Given the description of an element on the screen output the (x, y) to click on. 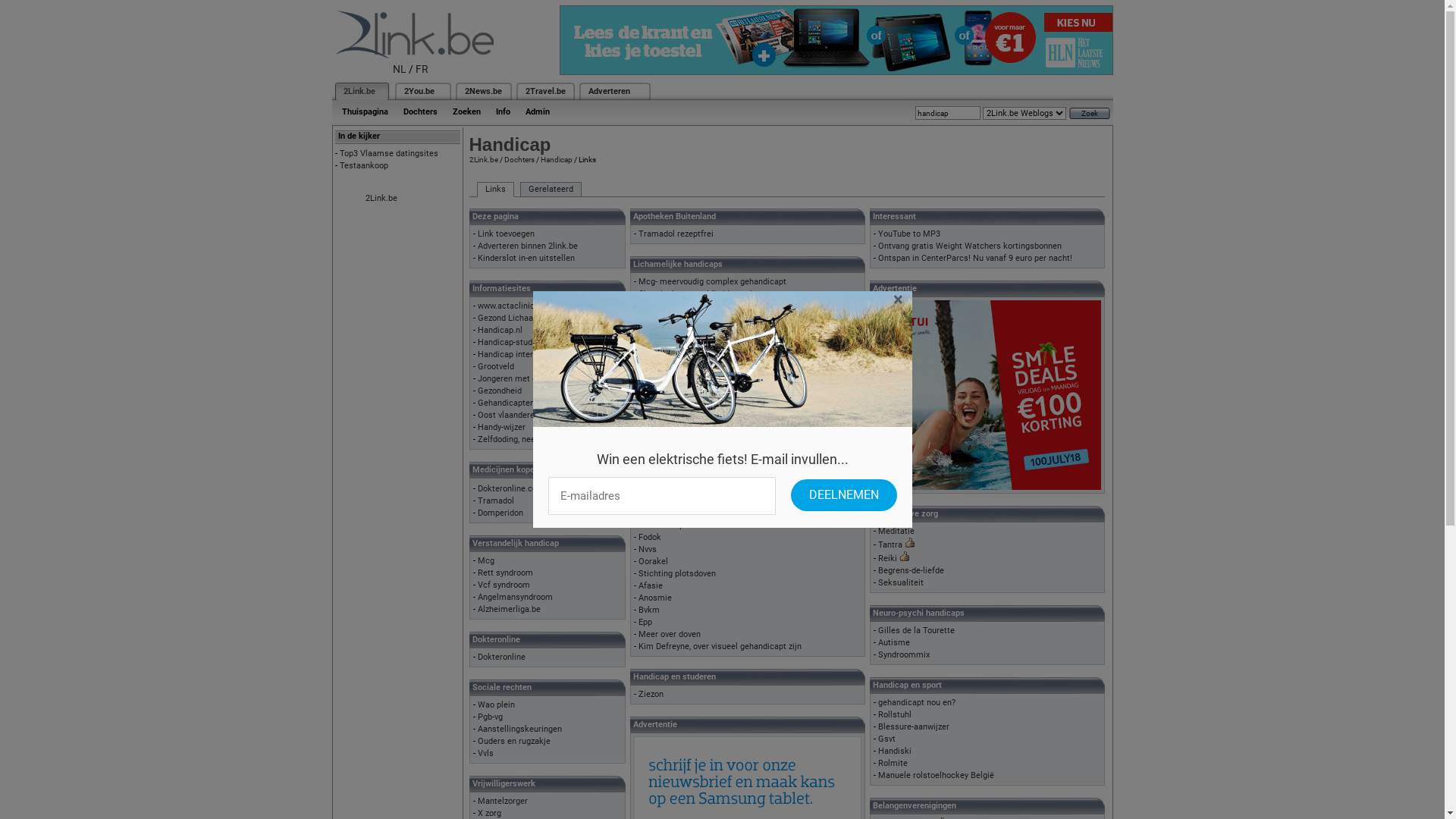
Angelmansyndroom Element type: text (514, 597)
Reiki Element type: text (887, 558)
Handicap-studie.nl Element type: text (512, 342)
Handicap Element type: text (555, 159)
Nvvs Element type: text (647, 549)
Links Element type: text (494, 189)
Tramadol rezeptfrei Element type: text (675, 233)
Stickler syndroom Element type: text (672, 355)
Ontvang gratis Weight Watchers kortingsbonnen Element type: text (969, 246)
Fodok Element type: text (649, 537)
Anosmie Element type: text (654, 597)
Aanstellingskeuringen Element type: text (519, 729)
www.actaclinicabelgica.be Element type: text (527, 305)
Posttraumatische dystrofie Element type: text (689, 319)
Me/cvs.net Element type: text (659, 440)
Meditatie Element type: text (896, 531)
Link toevoegen Element type: text (505, 233)
Rolmite Element type: text (892, 763)
Info Element type: text (502, 111)
Leven met Als Element type: text (665, 428)
NL Element type: text (399, 68)
Mantelzorger Element type: text (502, 801)
Pgb-vg Element type: text (489, 716)
ME/CVS Vereniging Element type: text (675, 453)
Alzheimerliga.be Element type: text (508, 609)
Aangeboren heupafwijkingen vereniging Element type: text (712, 380)
Rett syndroom Element type: text (505, 572)
Blessure-aanwijzer Element type: text (913, 726)
Mcg- meervoudig complex gehandicapt Element type: text (712, 281)
Mcg Element type: text (485, 560)
Autisme Element type: text (894, 642)
Handicap.nl Element type: text (499, 330)
Ziezon Element type: text (650, 694)
Epp Element type: text (645, 622)
Syndroom van joubert Element type: text (679, 368)
Afasie Element type: text (650, 585)
Adverteren Element type: text (609, 91)
FR Element type: text (421, 68)
Bvkm Element type: text (648, 610)
Spina bifida Element type: text (660, 343)
Zoeken Element type: text (465, 111)
Admin Element type: text (536, 111)
Adverteren binnen 2link.be Element type: text (527, 246)
2You.be Element type: text (418, 91)
Seksualiteit Element type: text (900, 582)
Gezondheid Element type: text (499, 390)
Gehandicapten.nl Element type: text (510, 402)
Vereniging spierziekten nederland Element type: text (702, 392)
X zorg Element type: text (489, 813)
Handy-wijzer Element type: text (501, 427)
Dochters Element type: text (420, 111)
2News.be Element type: text (482, 91)
Kinderslot in-en uitstellen Element type: text (525, 258)
Testaankoop Element type: text (363, 165)
2Link.be Element type: text (358, 91)
Ontspan in CenterParcs! Nu vanaf 9 euro per nacht! Element type: text (975, 258)
Domperidon Element type: text (500, 512)
Zoek Element type: text (1089, 113)
Rollstuhl Element type: text (894, 714)
Dovenschap Element type: text (661, 525)
Stichting plotsdoven Element type: text (676, 573)
2Link.be Element type: text (381, 198)
Grootveld Element type: text (495, 366)
Tramadol Element type: text (495, 500)
2Travel.be Element type: text (544, 91)
Gerelateerd Element type: text (550, 189)
Dochters Element type: text (518, 159)
Dokteronline Element type: text (501, 657)
Vereniging scoliosepatienten Element type: text (693, 404)
Zelfdoding, nee ! Element type: text (508, 439)
Gilles de la Tourette Element type: text (916, 630)
Wao plein Element type: text (495, 704)
YouTube to MP3 Element type: text (909, 233)
Kim Bols Element type: text (655, 512)
2Link.be Element type: text (482, 159)
Vvls Element type: text (485, 753)
Handiski Element type: text (894, 751)
Nvbs Element type: text (647, 500)
Vcf syndroom Element type: text (503, 584)
Schisis Element type: text (652, 331)
Tantra Element type: text (890, 544)
Jongeren met een handicap Element type: text (529, 378)
Ouders en rugzakje Element type: text (513, 741)
Handicap international.be Element type: text (525, 354)
Kim Defreyne, over visueel gehandicapt zijn Element type: text (719, 646)
Meer over doven Element type: text (669, 634)
Top3 Vlaamse datingsites Element type: text (388, 153)
Chronisch vermoeidheidssyndroom Element type: text (704, 293)
Thuispagina Element type: text (364, 111)
Gezond Lichaam Element type: text (508, 318)
Gsvt Element type: text (886, 738)
Syndroommix Element type: text (903, 654)
Oost vlaanderen Element type: text (508, 415)
Begrens-de-liefde Element type: text (911, 570)
Xeroderma pigmentosum Element type: text (686, 416)
Oorakel Element type: text (653, 561)
Pierre Robin Element type: text (661, 305)
gehandicapt nou en? Element type: text (916, 702)
Dokteronline.com Element type: text (510, 488)
